Given the description of an element on the screen output the (x, y) to click on. 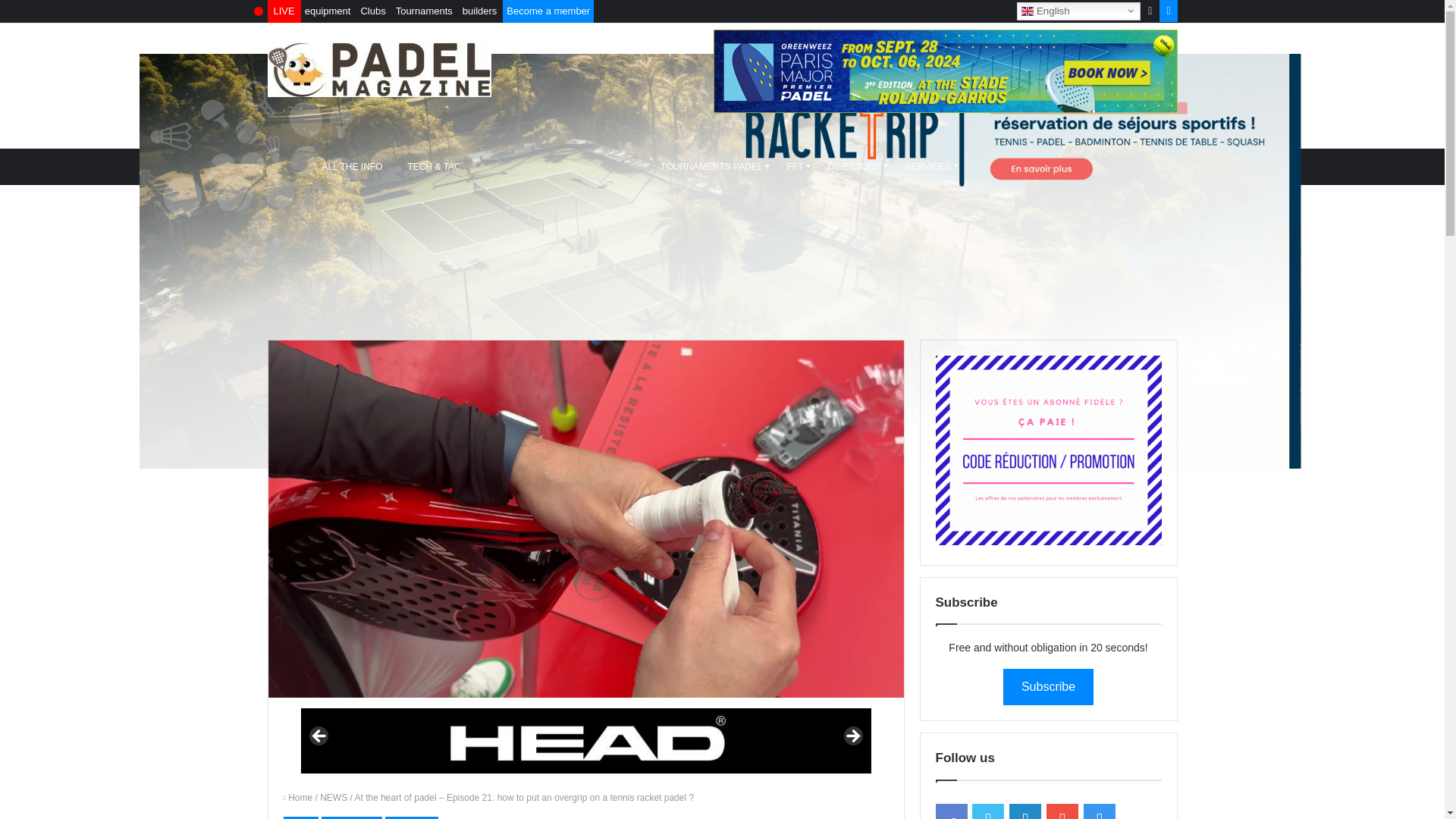
equipment (328, 11)
LIVE (283, 11)
builders (479, 11)
Clubs (372, 11)
Become a member (548, 11)
English (1078, 11)
Tournaments (424, 11)
